Given the description of an element on the screen output the (x, y) to click on. 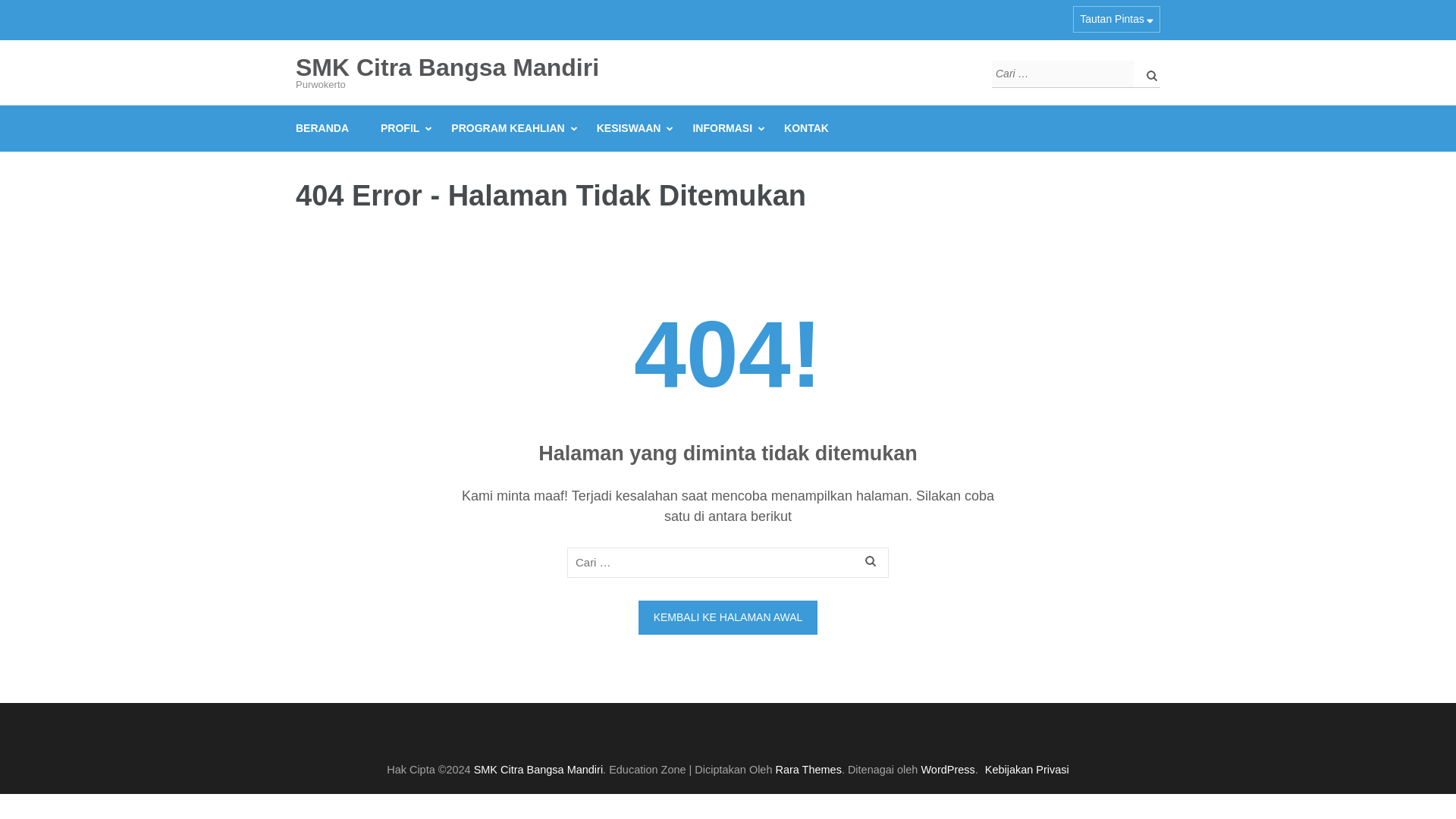
KESISWAAN (628, 128)
SMK Citra Bangsa Mandiri (446, 67)
KONTAK (806, 128)
PROFIL (399, 128)
Tautan Pintas (1116, 18)
Cari (1148, 74)
Cari (1148, 74)
Cari (872, 562)
Cari (1148, 74)
PROGRAM KEAHLIAN (507, 128)
BERANDA (322, 128)
Cari (872, 562)
INFORMASI (722, 128)
